Given the description of an element on the screen output the (x, y) to click on. 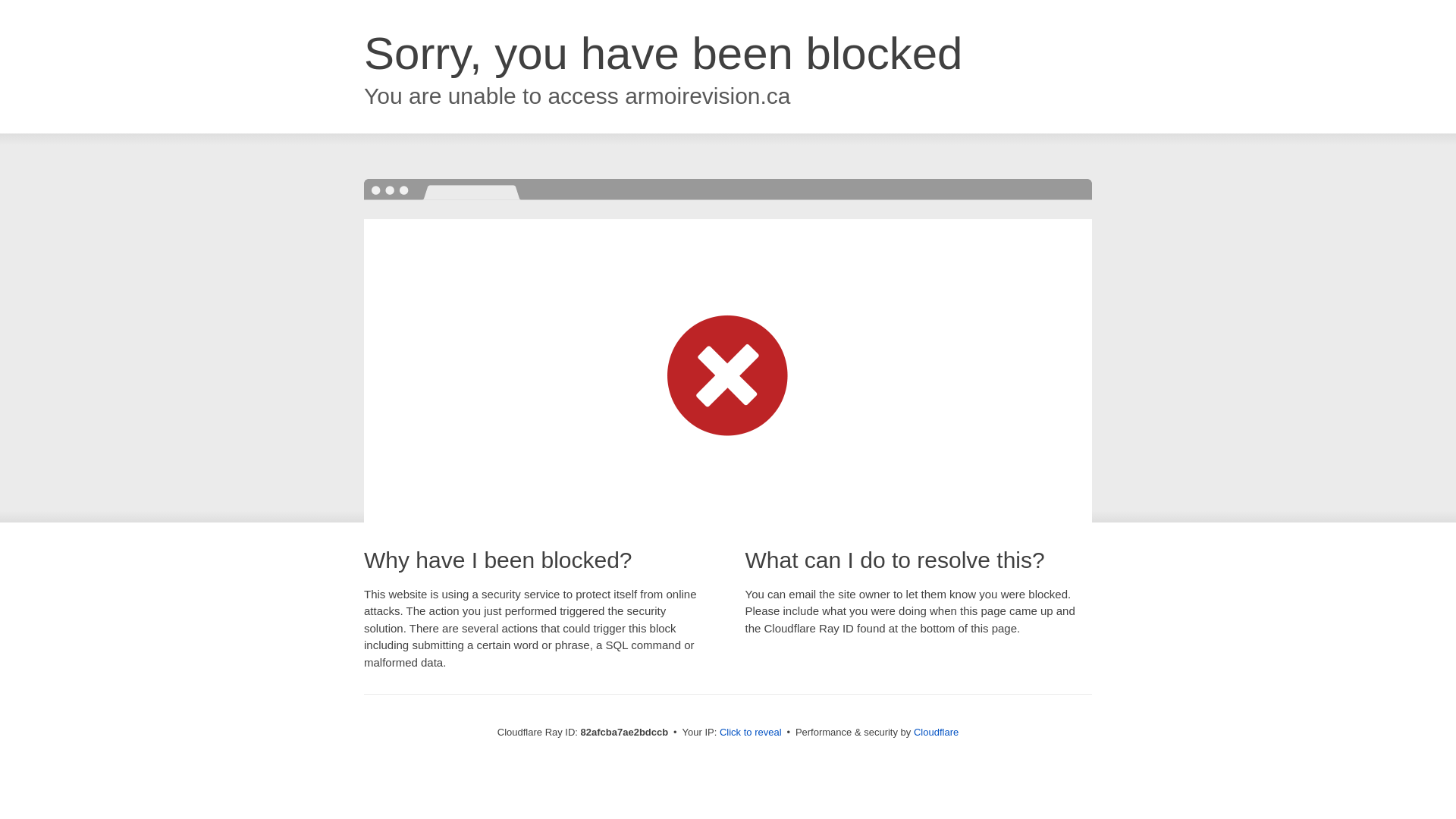
Click to reveal Element type: text (750, 732)
Cloudflare Element type: text (935, 731)
